Given the description of an element on the screen output the (x, y) to click on. 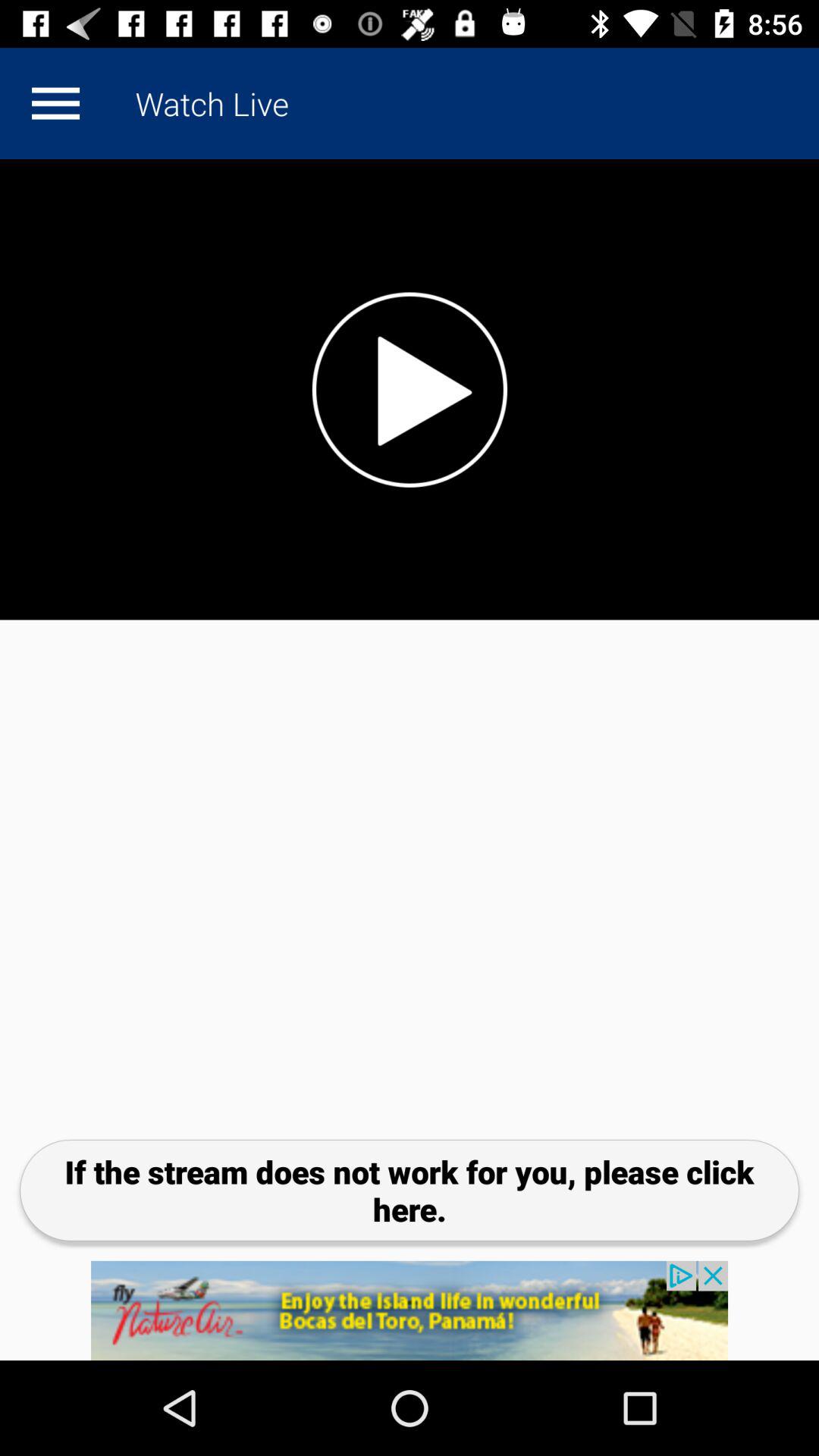
play option (409, 389)
